Given the description of an element on the screen output the (x, y) to click on. 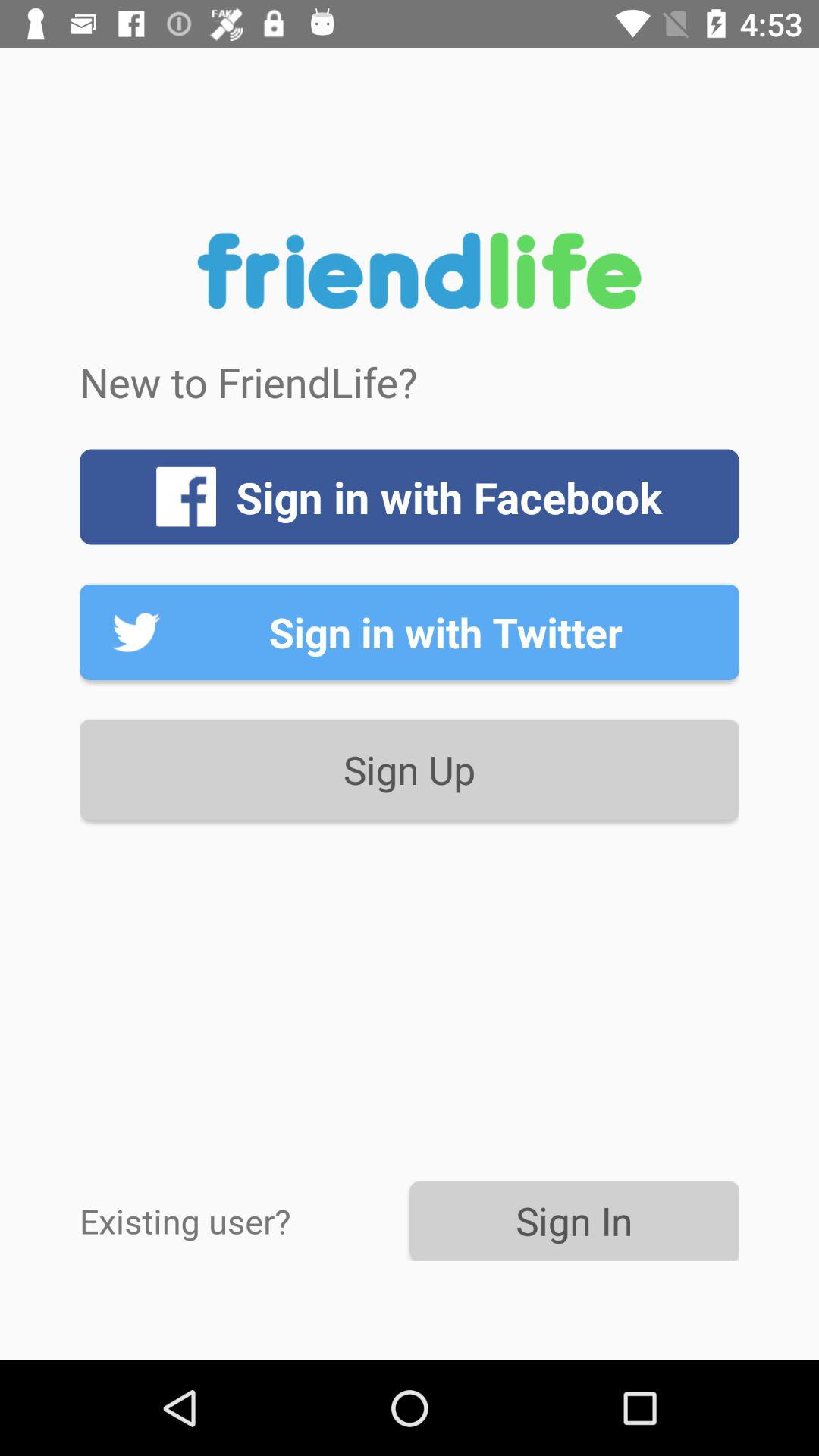
swipe until the existing user? (244, 1220)
